Given the description of an element on the screen output the (x, y) to click on. 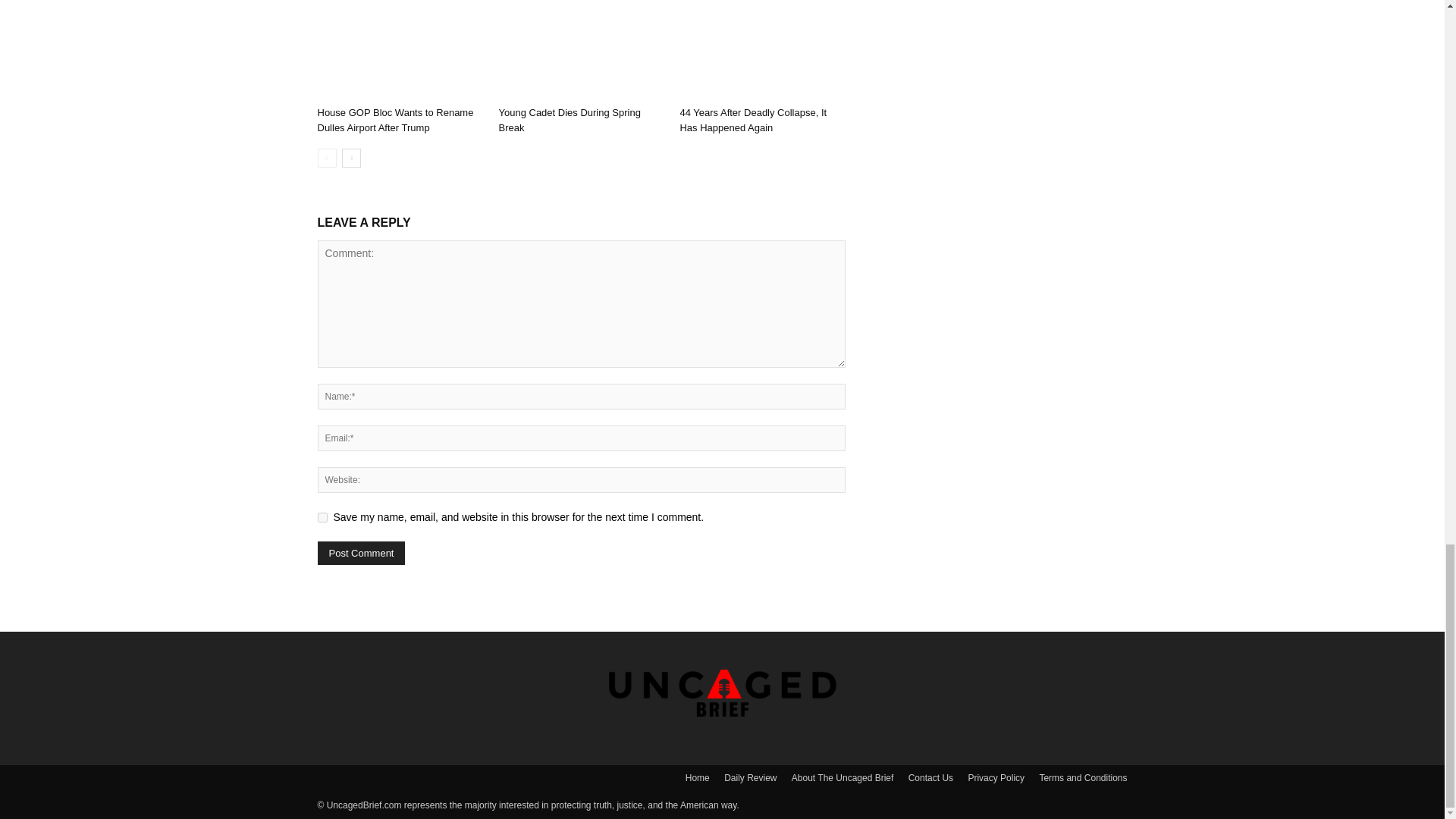
House GOP Bloc Wants to Rename Dulles Airport After Trump (399, 49)
Post Comment (360, 553)
yes (321, 517)
